Given the description of an element on the screen output the (x, y) to click on. 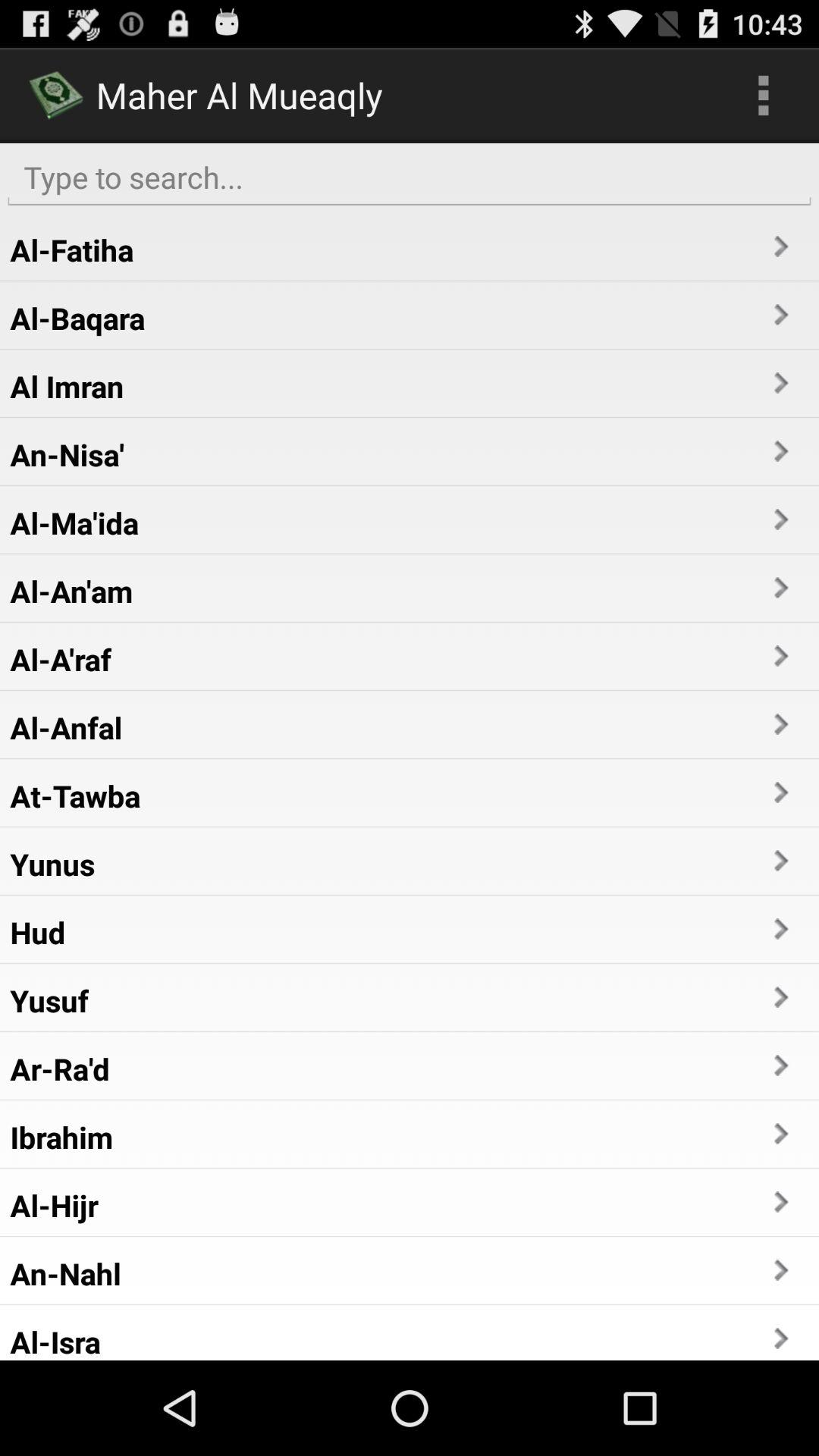
tap item above al imran app (77, 318)
